Given the description of an element on the screen output the (x, y) to click on. 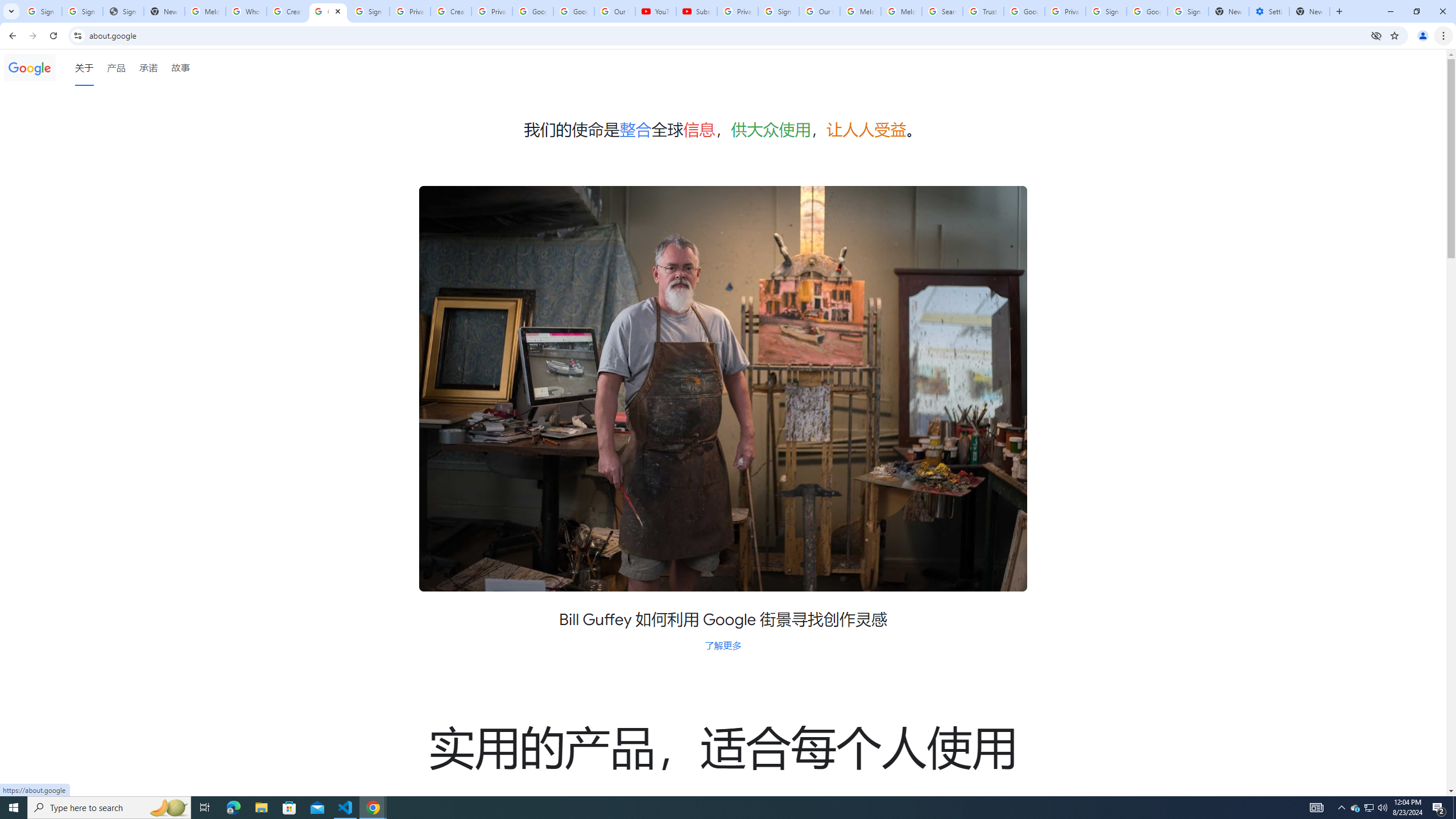
Sign in - Google Accounts (81, 11)
Who is my administrator? - Google Account Help (246, 11)
Sign in - Google Accounts (1187, 11)
Settings - Addresses and more (1268, 11)
